Given the description of an element on the screen output the (x, y) to click on. 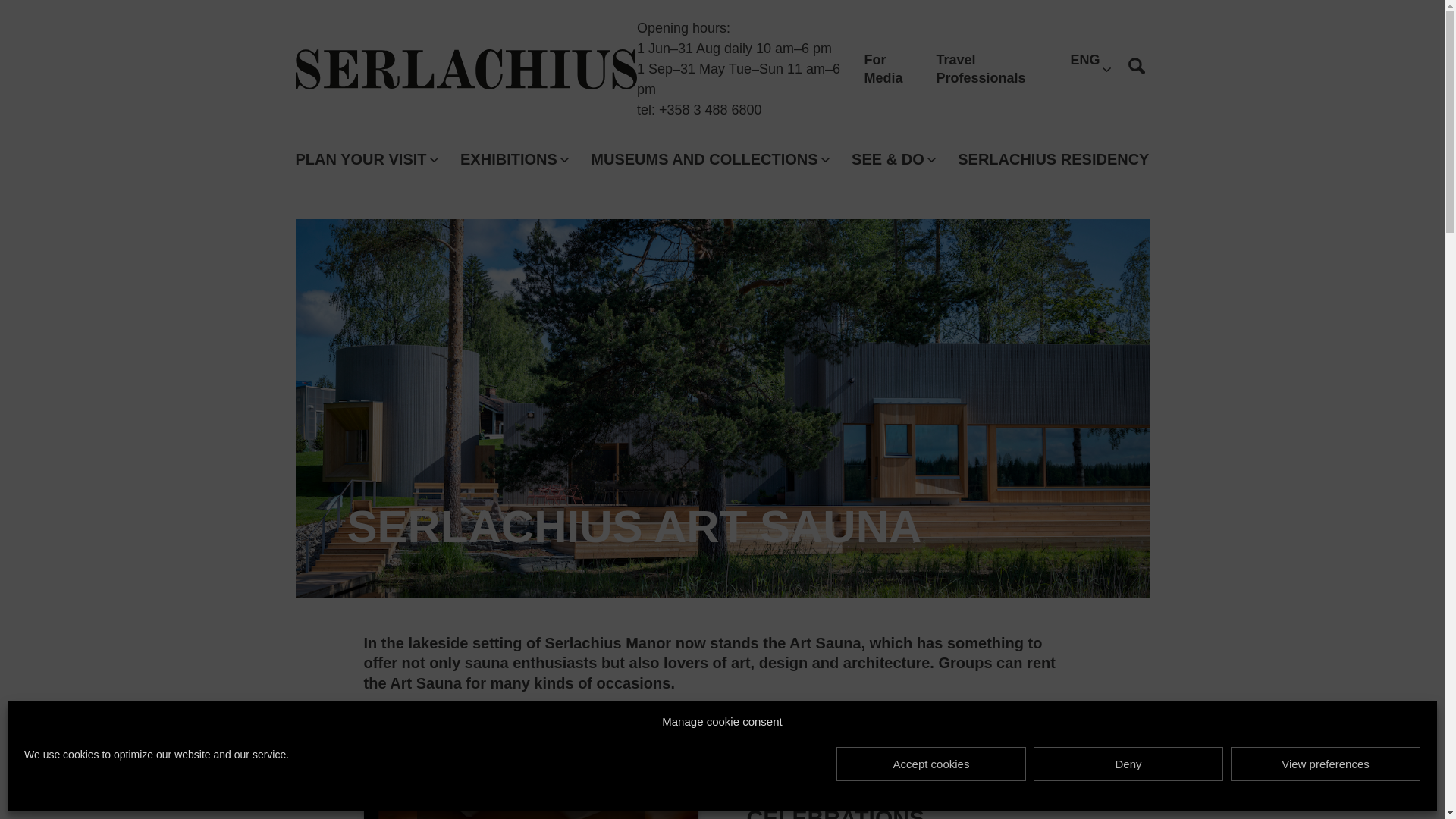
MUSEUMS AND COLLECTIONS (703, 159)
View preferences (1325, 763)
EXHIBITIONS (508, 159)
Travel Professionals (981, 68)
For Media (882, 68)
Deny (1128, 763)
PLAN YOUR VISIT (360, 159)
Accept cookies (930, 763)
